Given the description of an element on the screen output the (x, y) to click on. 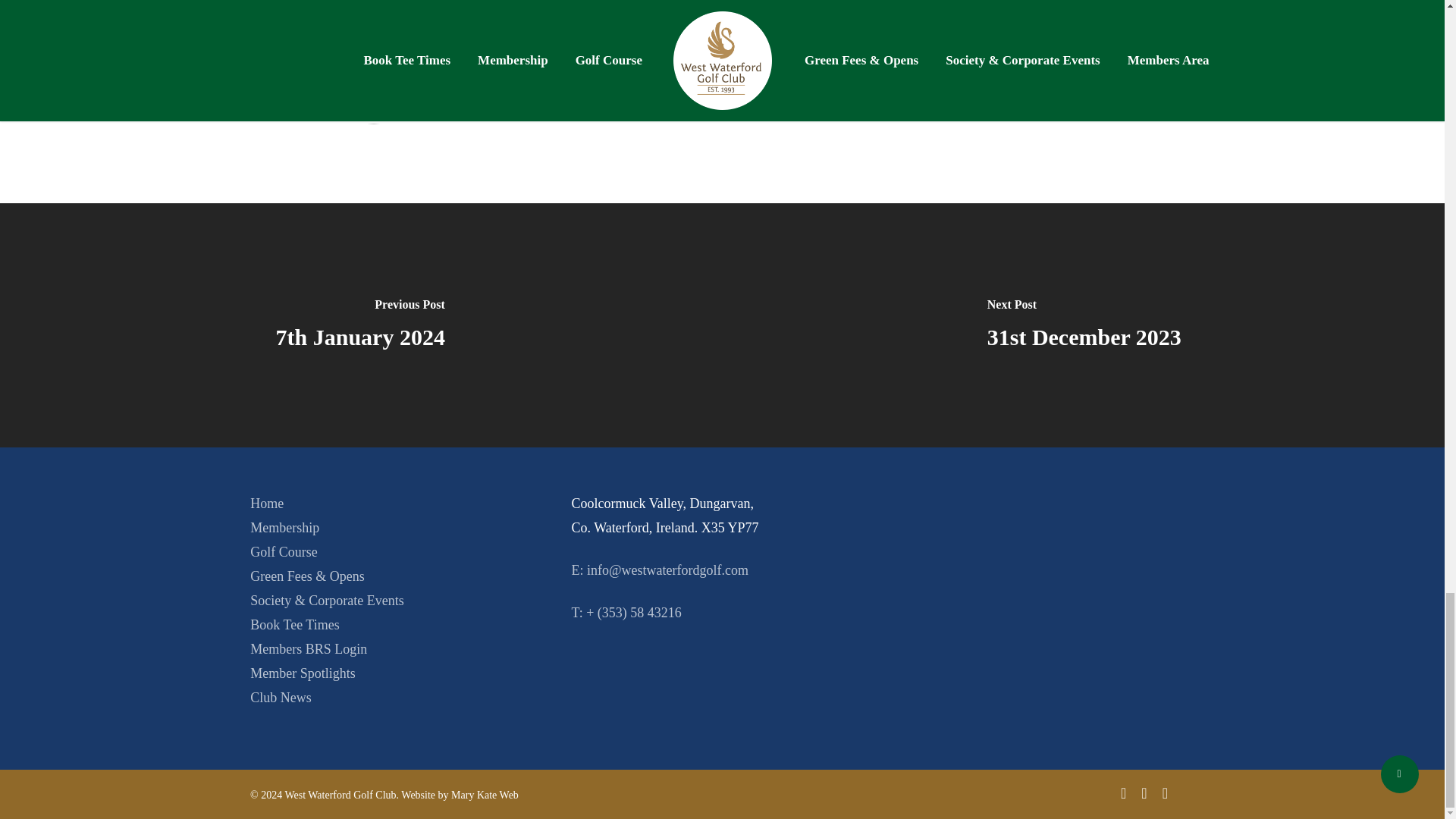
Member Spotlights (302, 672)
Home (266, 503)
Club News (280, 697)
Membership (284, 527)
Members BRS Login (308, 648)
Book Tee Times (294, 624)
Golf Course (283, 551)
